Given the description of an element on the screen output the (x, y) to click on. 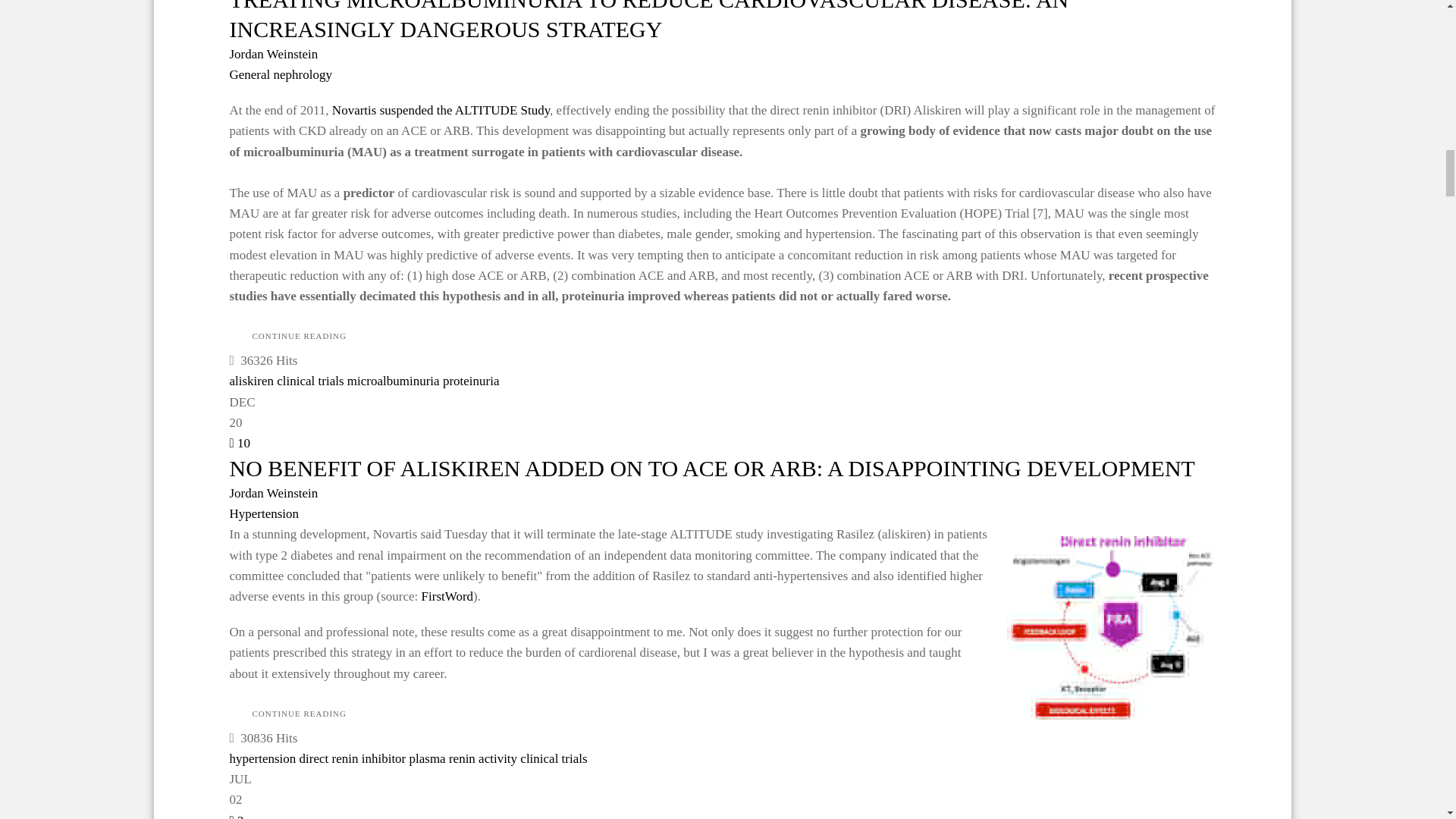
pra.jpg (1111, 621)
